Given the description of an element on the screen output the (x, y) to click on. 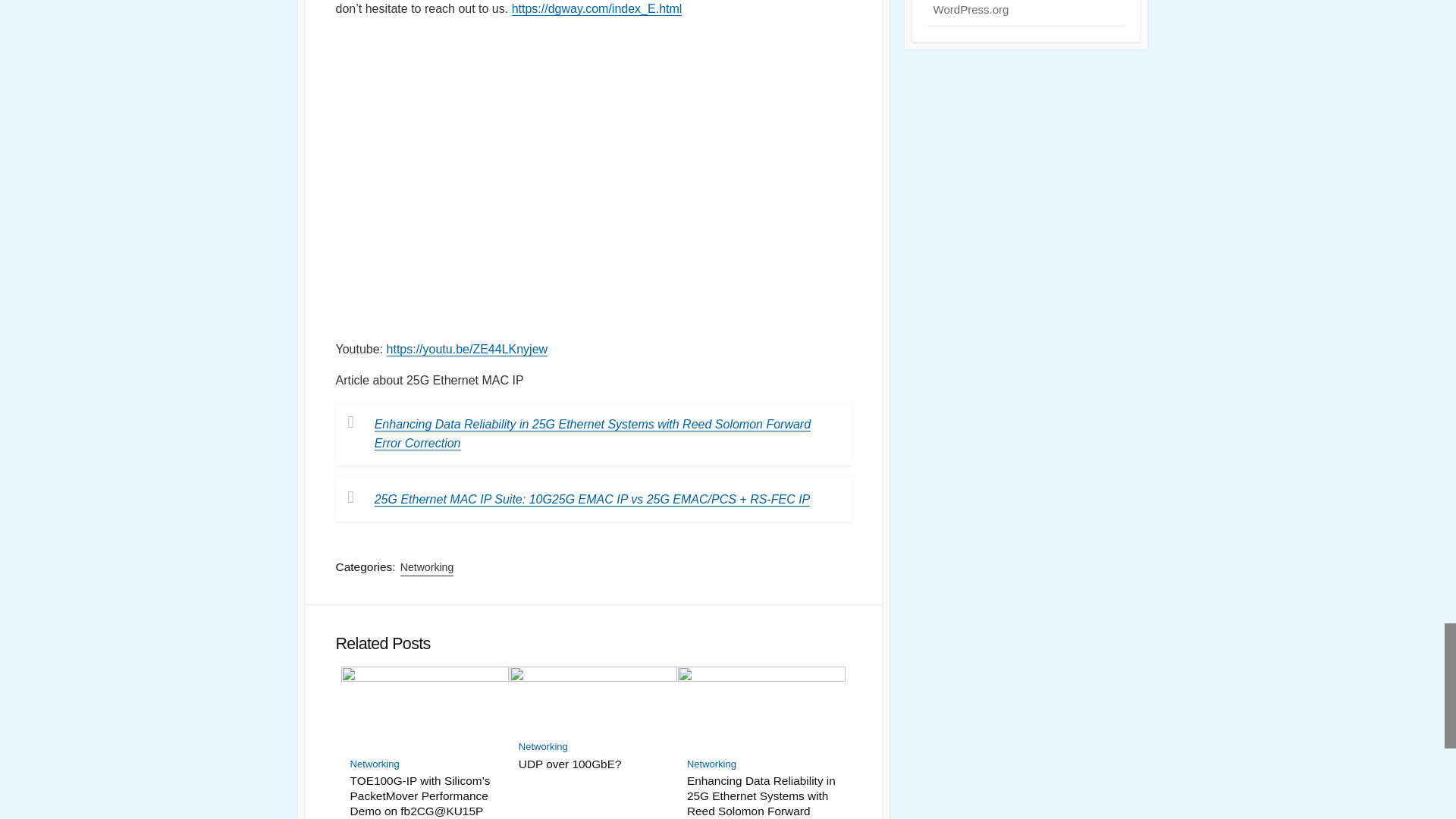
Networking (426, 567)
Networking (711, 763)
Networking (542, 746)
Networking (374, 763)
UDP over 100GbE? (593, 764)
